Given the description of an element on the screen output the (x, y) to click on. 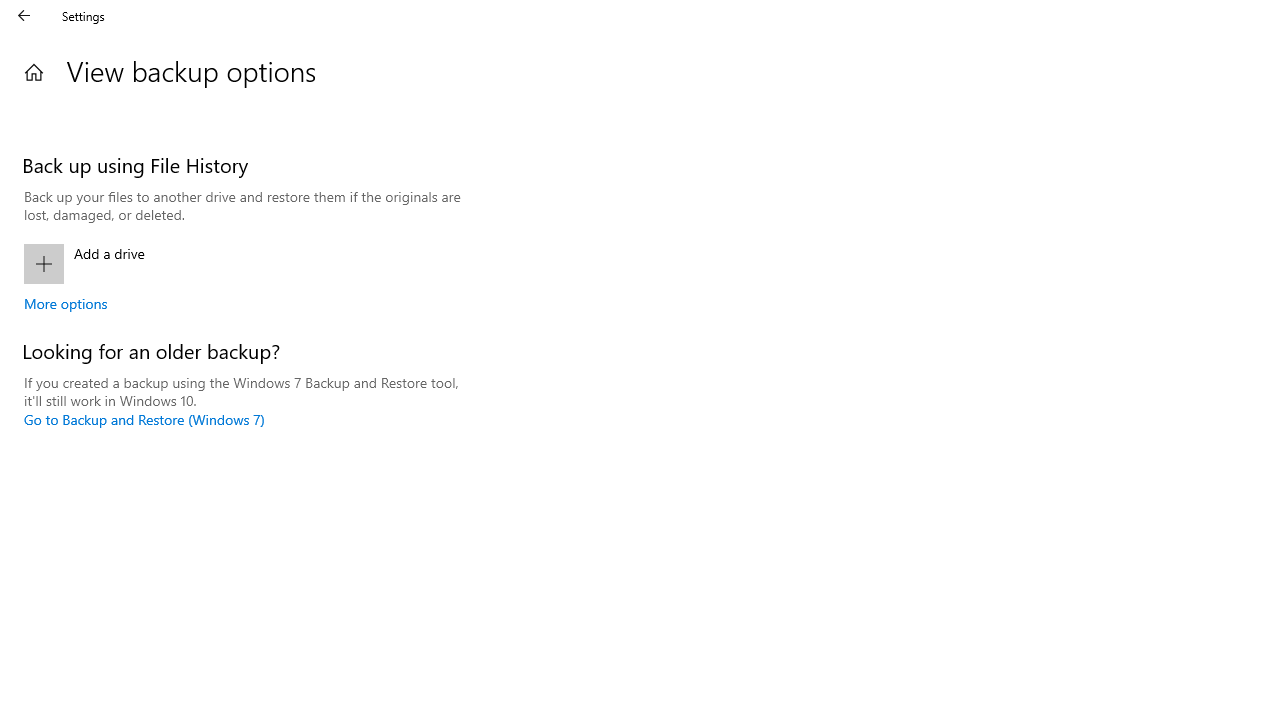
More options (65, 303)
Go to Backup and Restore (Windows 7) (144, 419)
Add a drive (243, 263)
